Given the description of an element on the screen output the (x, y) to click on. 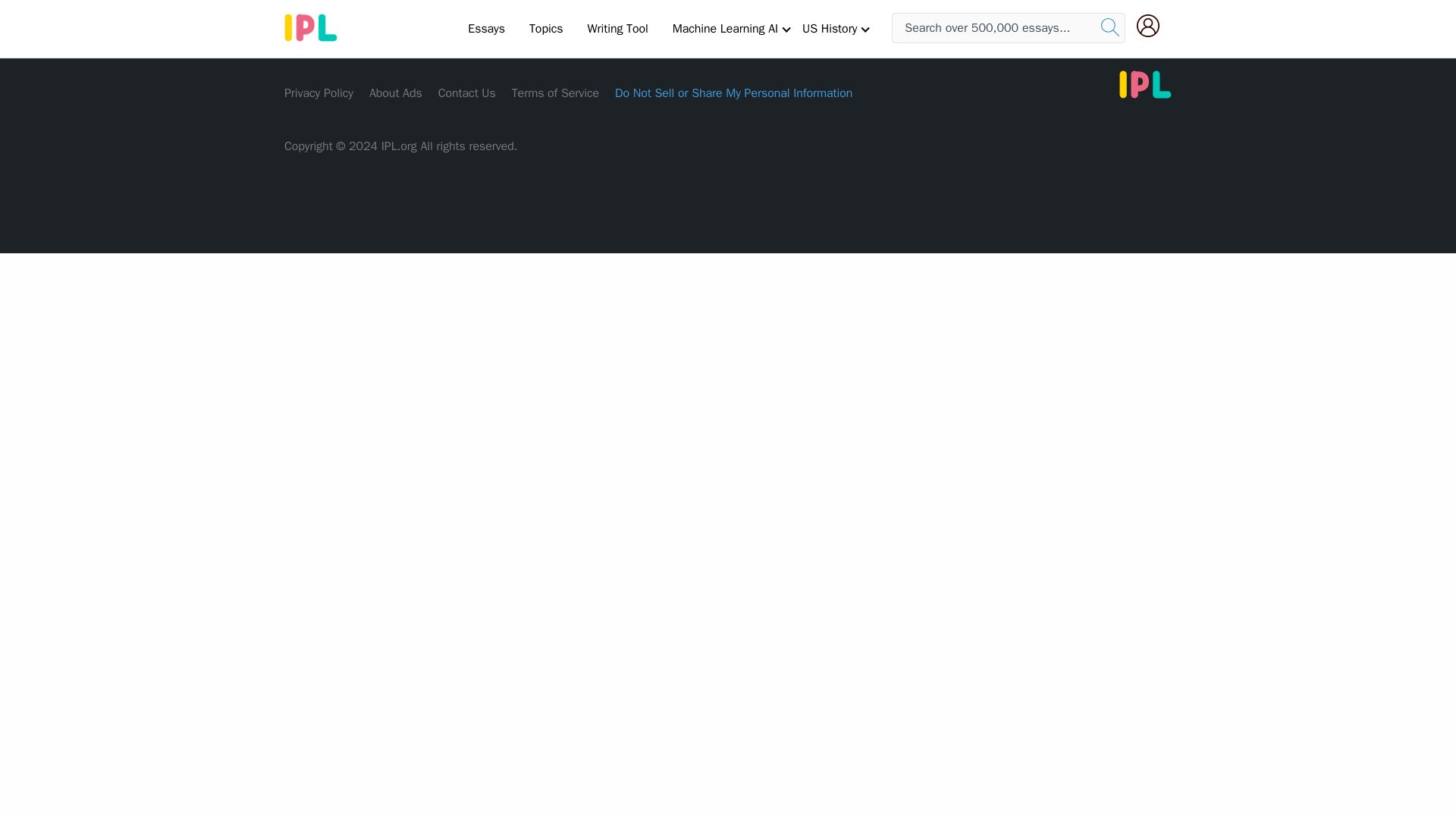
Do Not Sell or Share My Personal Information (732, 92)
Essays (485, 28)
Contact Us (467, 92)
Writing Tool (617, 28)
About Ads (395, 92)
Privacy Policy (318, 92)
Machine Learning AI (725, 28)
About Ads (395, 92)
US History (829, 28)
Terms of Service (555, 92)
Topics (545, 28)
Terms of Service (555, 92)
Privacy Policy (318, 92)
Contact Us (467, 92)
